Given the description of an element on the screen output the (x, y) to click on. 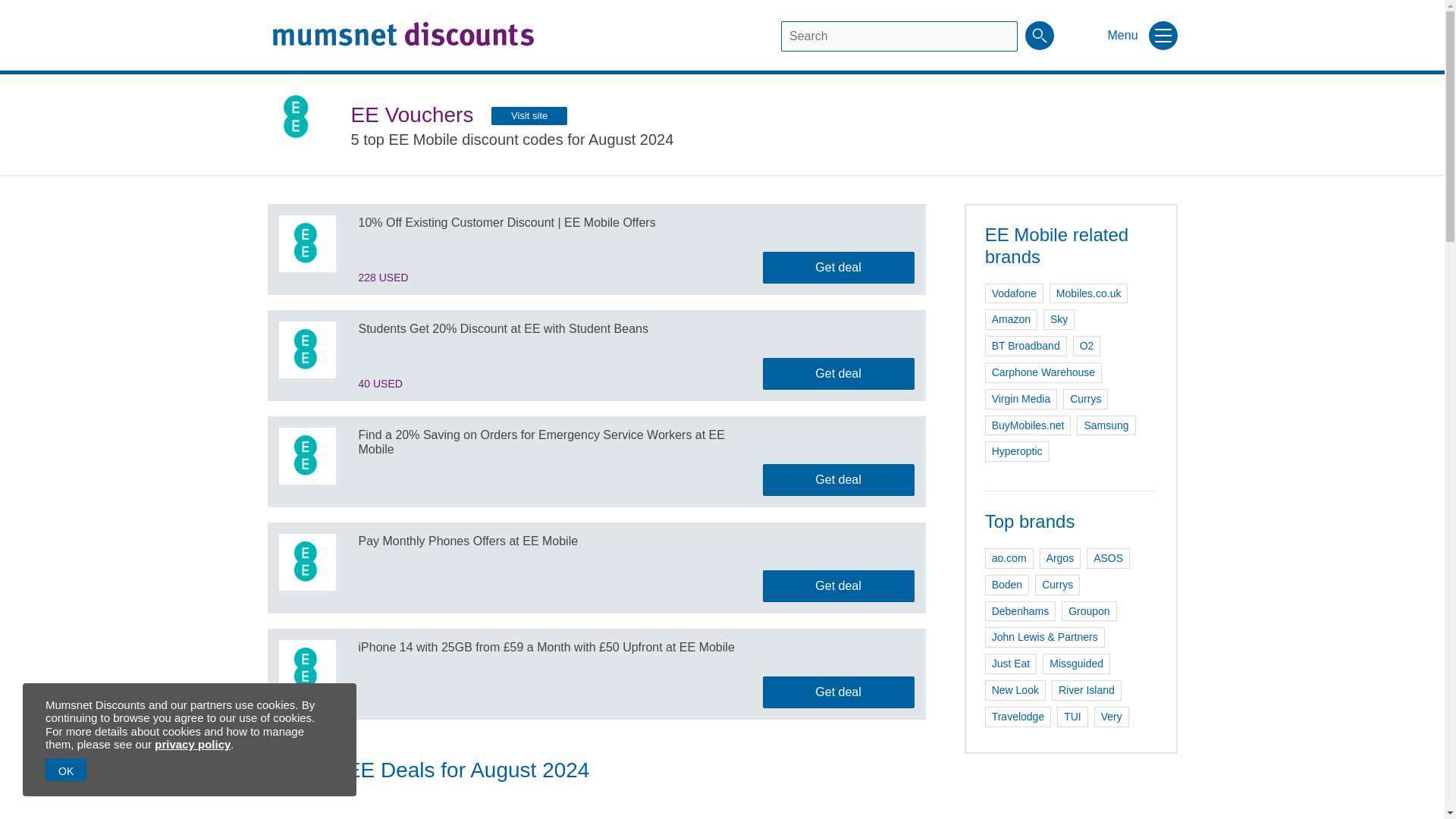
BT Broadband (1026, 345)
Get deal (838, 373)
Sky (1058, 319)
Mobiles.co.uk (1088, 293)
Vodafone (1014, 293)
Get deal (838, 585)
Amazon (1010, 319)
Get deal (838, 267)
Get deal (838, 480)
Visit site (529, 116)
Get deal (838, 692)
